Given the description of an element on the screen output the (x, y) to click on. 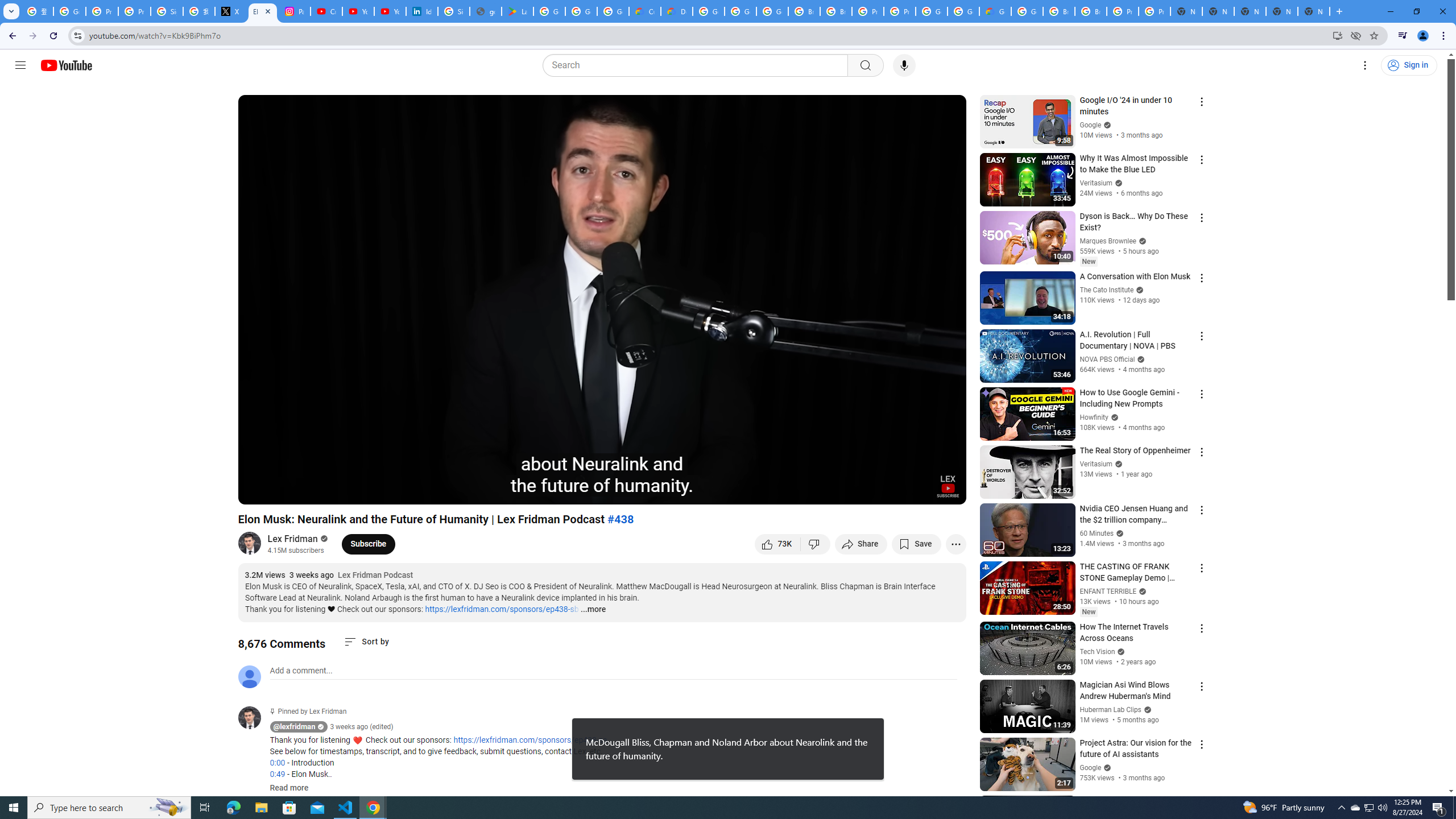
New (1087, 611)
Last Shelter: Survival - Apps on Google Play (517, 11)
Lex Fridman (292, 538)
Lex Fridman Podcast (375, 575)
Google Workspace - Specific Terms (581, 11)
X (230, 11)
Google Cloud Estimate Summary (995, 11)
Search with your voice (903, 65)
